Given the description of an element on the screen output the (x, y) to click on. 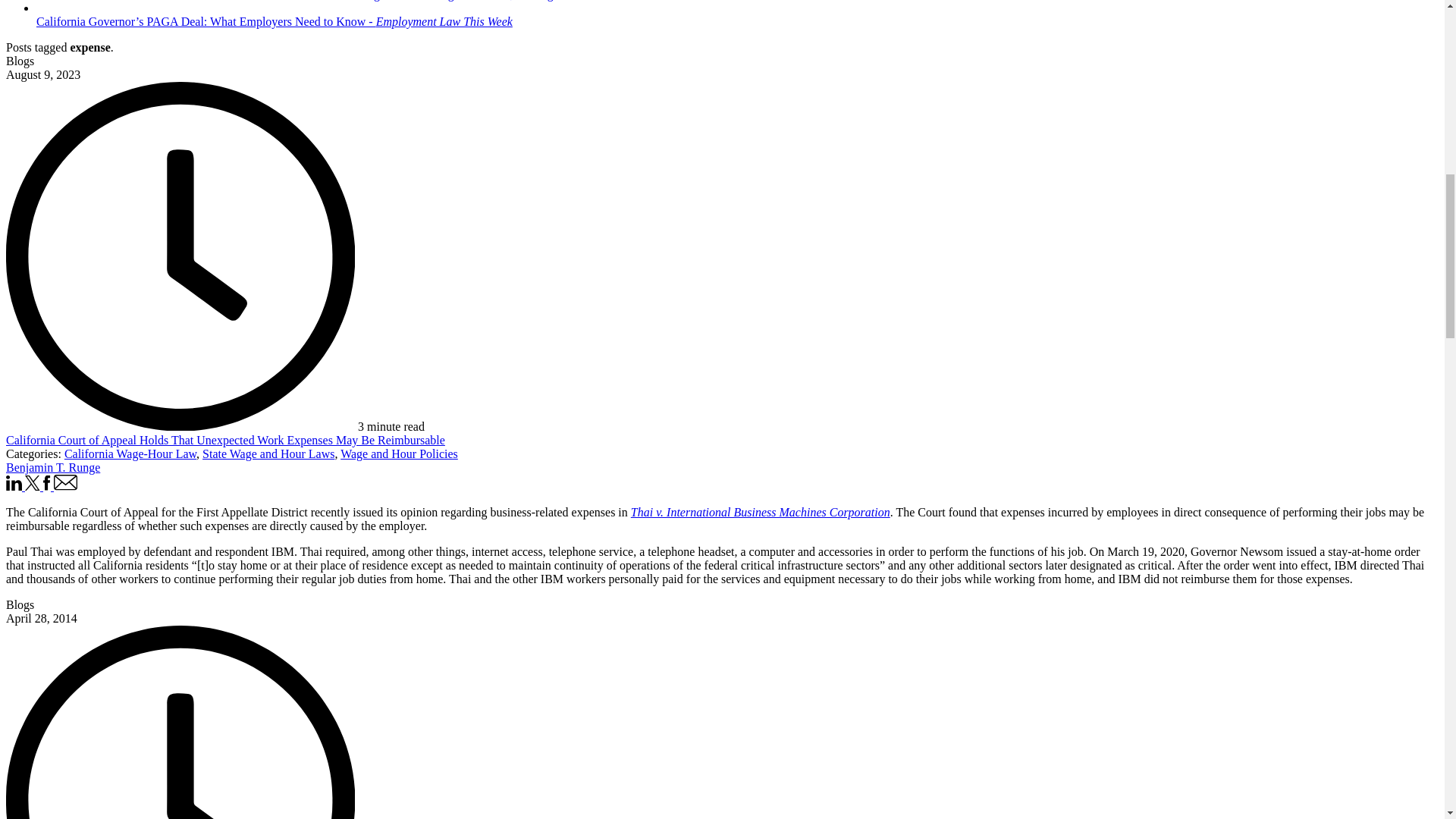
California Wage-Hour Law (130, 453)
Linkedin (13, 482)
Twitter (33, 486)
Clock (180, 722)
Linkedin (14, 486)
Thai v. International Business Machines Corporation (759, 512)
Benjamin T. Runge (52, 467)
Clock (180, 255)
Email (65, 482)
State Wage and Hour Laws (268, 453)
Email (65, 486)
Twitter (32, 482)
Wage and Hour Policies (399, 453)
